Given the description of an element on the screen output the (x, y) to click on. 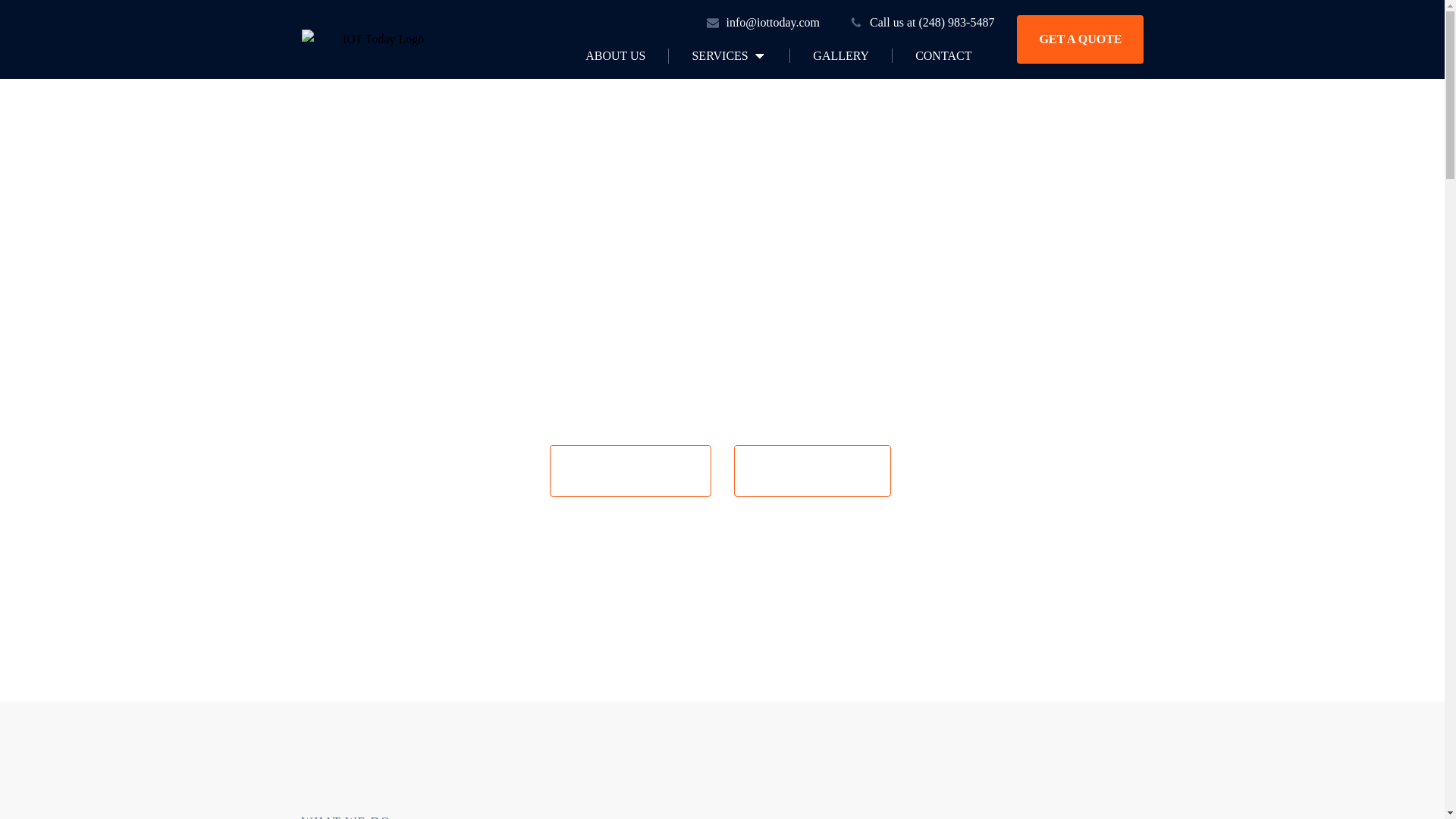
ABOUT US (615, 55)
BUSINESS (812, 470)
GALLERY (840, 55)
SERVICES (728, 55)
HOME (630, 470)
GET A QUOTE (1079, 39)
CONTACT (942, 55)
